Given the description of an element on the screen output the (x, y) to click on. 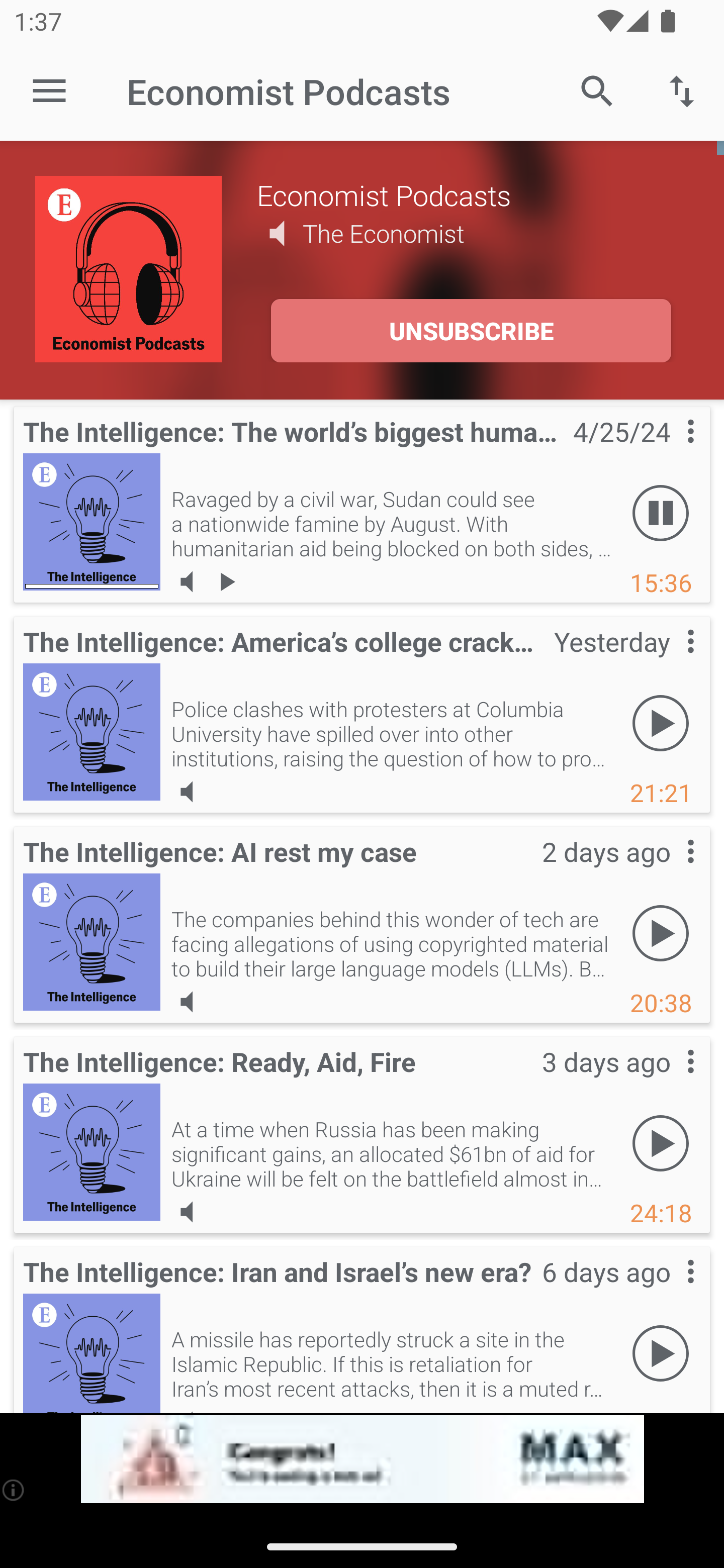
Open navigation sidebar (49, 91)
Search (597, 90)
Sort (681, 90)
UNSUBSCRIBE (470, 330)
Contextual menu (668, 451)
Pause (660, 513)
Contextual menu (668, 661)
Play (660, 723)
Contextual menu (668, 870)
Play (660, 933)
Contextual menu (668, 1080)
Play (660, 1143)
Contextual menu (668, 1290)
Play (660, 1353)
app-monetization (362, 1459)
(i) (14, 1489)
